Given the description of an element on the screen output the (x, y) to click on. 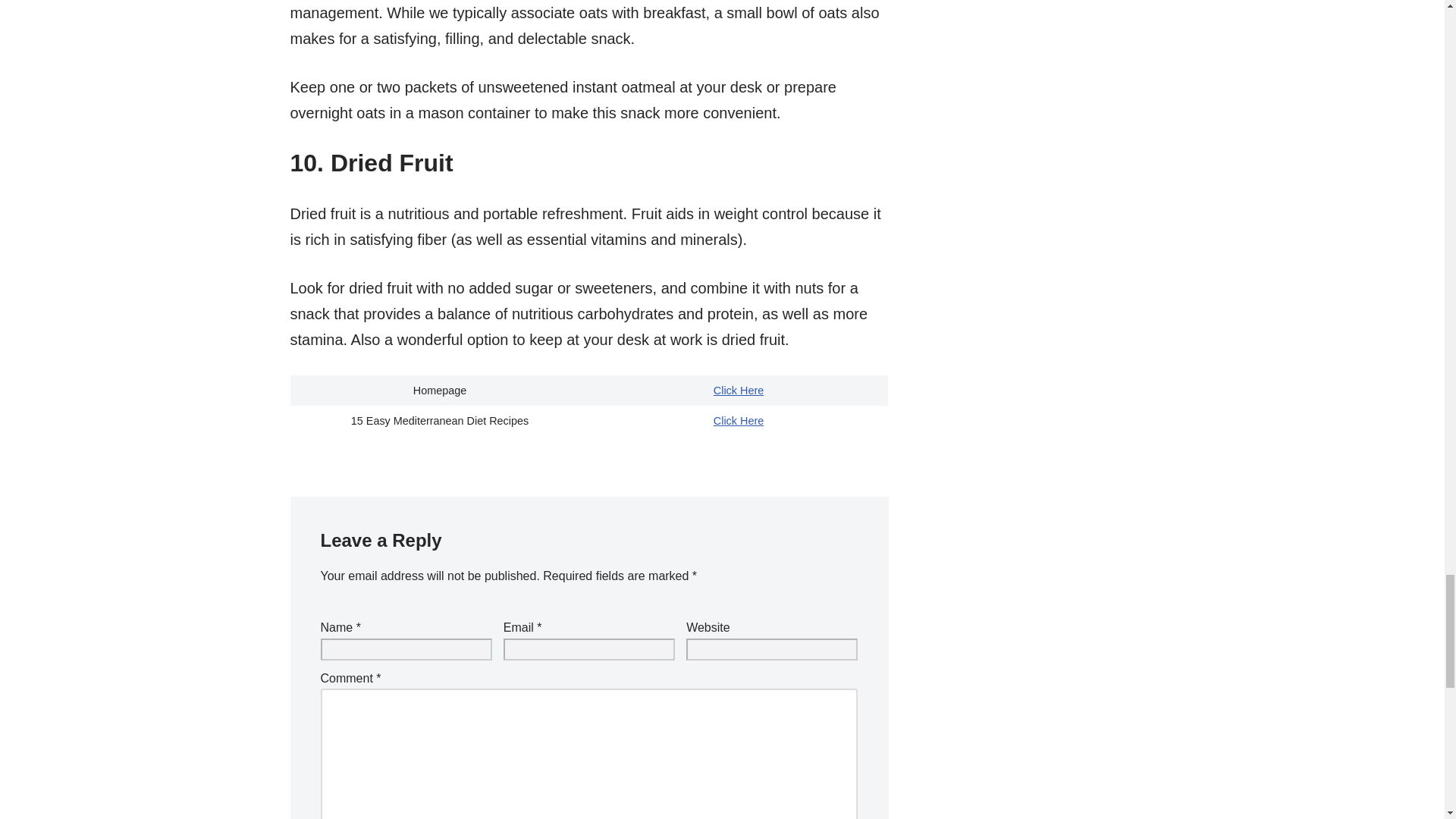
Click Here (737, 390)
Click Here (737, 420)
